Given the description of an element on the screen output the (x, y) to click on. 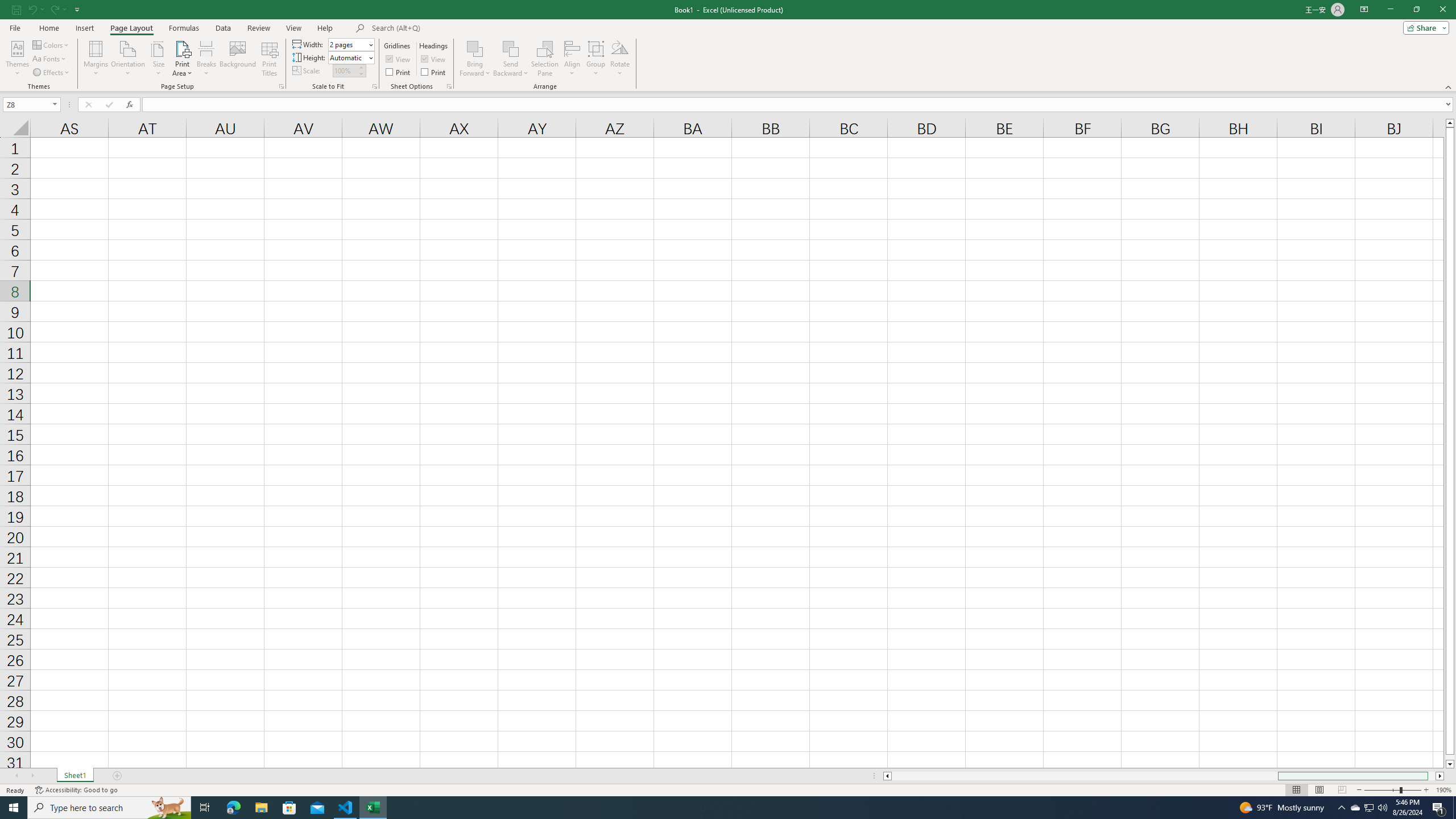
Redo (53, 9)
Page left (1084, 775)
Page Layout (1318, 790)
Align (571, 58)
File Tab (15, 27)
Width (347, 44)
Microsoft search (450, 28)
Accessibility Checker Accessibility: Good to go (76, 790)
Orientation (128, 58)
Column right (1440, 775)
Breaks (206, 58)
Send Backward (510, 58)
Sheet Options (449, 85)
Line up (1449, 122)
